Given the description of an element on the screen output the (x, y) to click on. 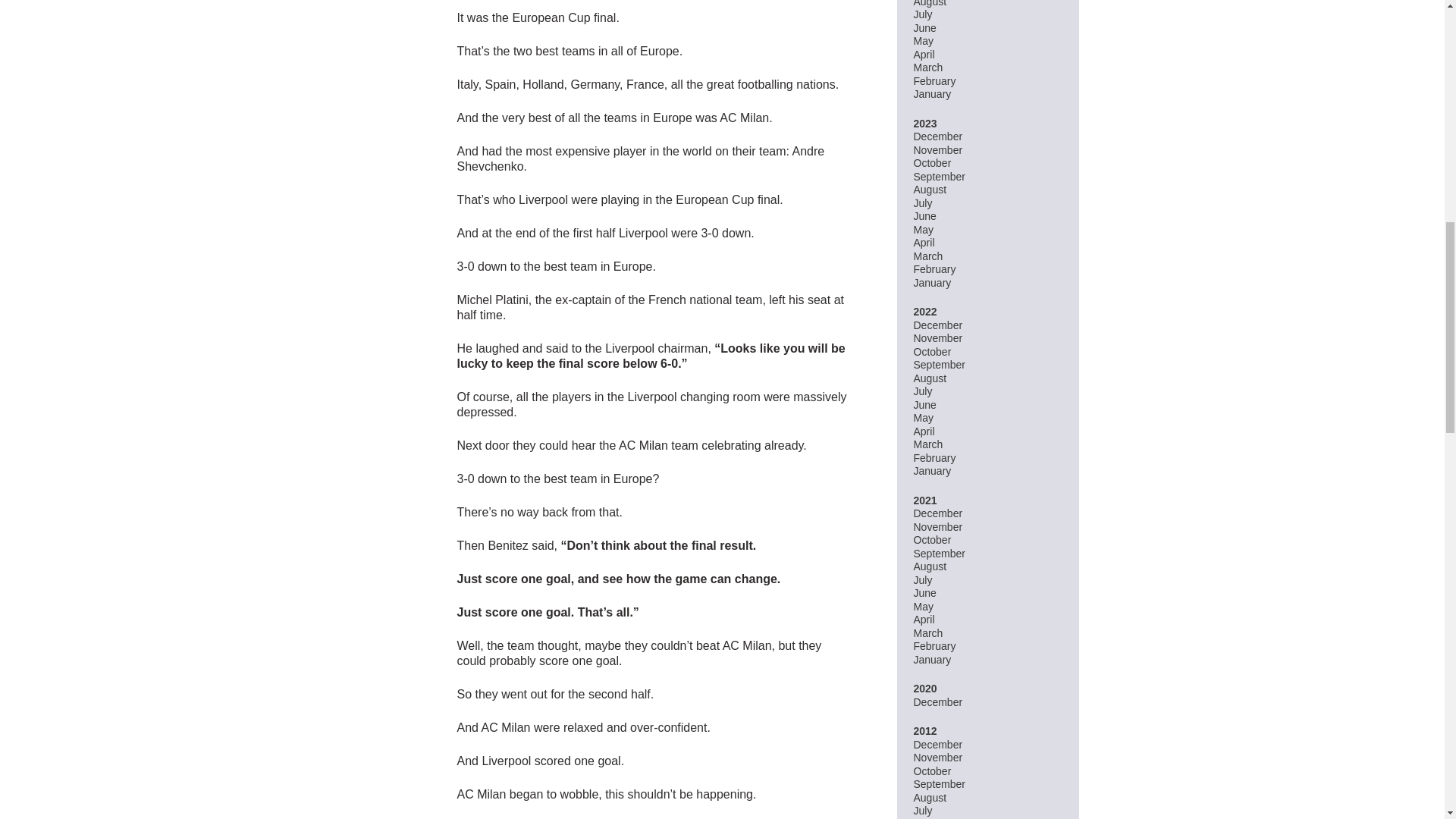
December (937, 325)
February (933, 268)
January (931, 93)
August (929, 189)
June (924, 215)
February (933, 80)
October (931, 351)
March (927, 256)
November (937, 337)
January (931, 282)
